Given the description of an element on the screen output the (x, y) to click on. 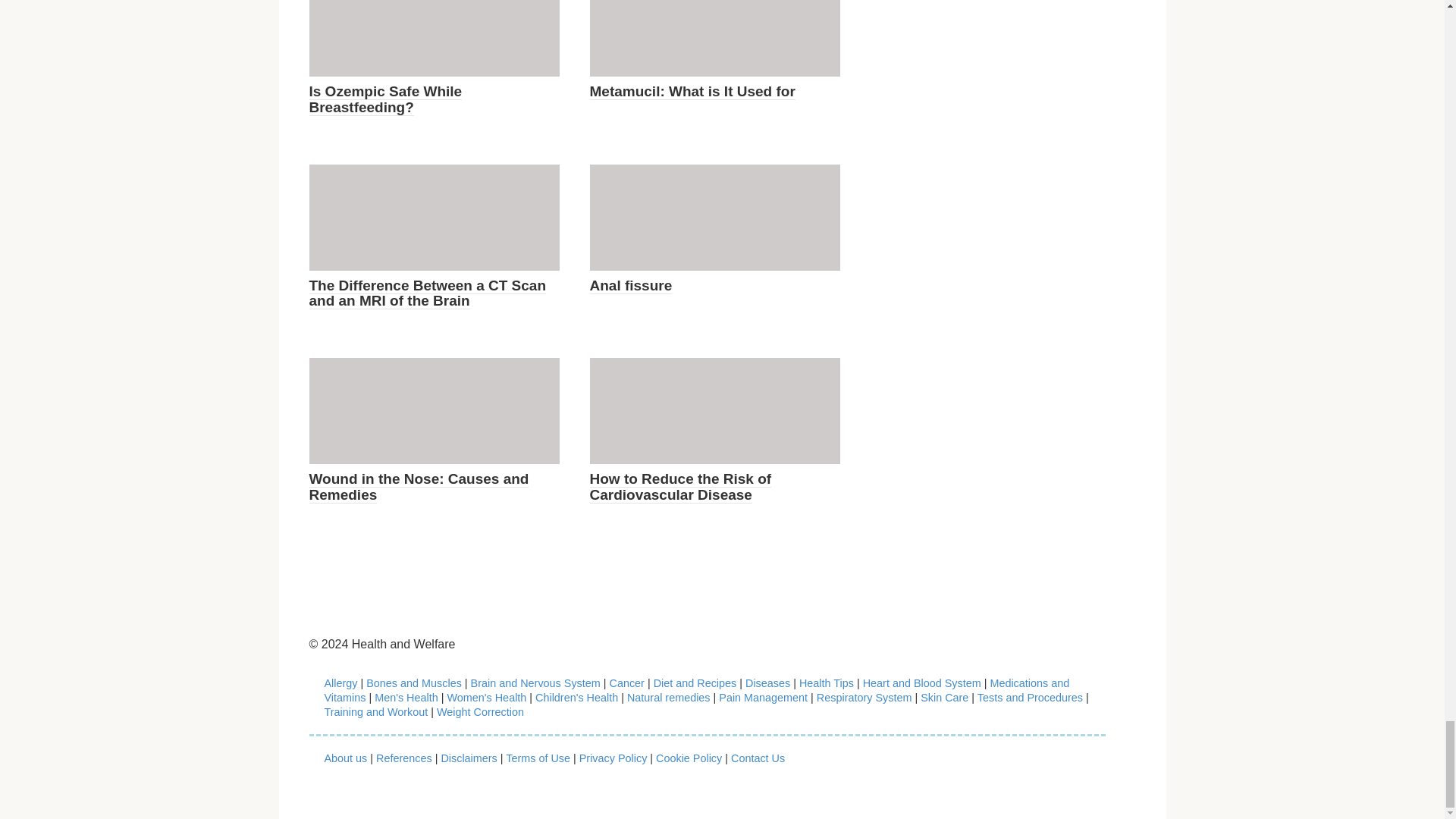
The Difference Between a CT Scan and an MRI of the Brain (427, 293)
Wound in the Nose: Causes and Remedies (418, 486)
Is Ozempic Safe While Breastfeeding? (385, 99)
How to Reduce the Risk of Cardiovascular Disease (680, 486)
Metamucil: What is It Used for (691, 91)
Anal fissure (630, 285)
